Given the description of an element on the screen output the (x, y) to click on. 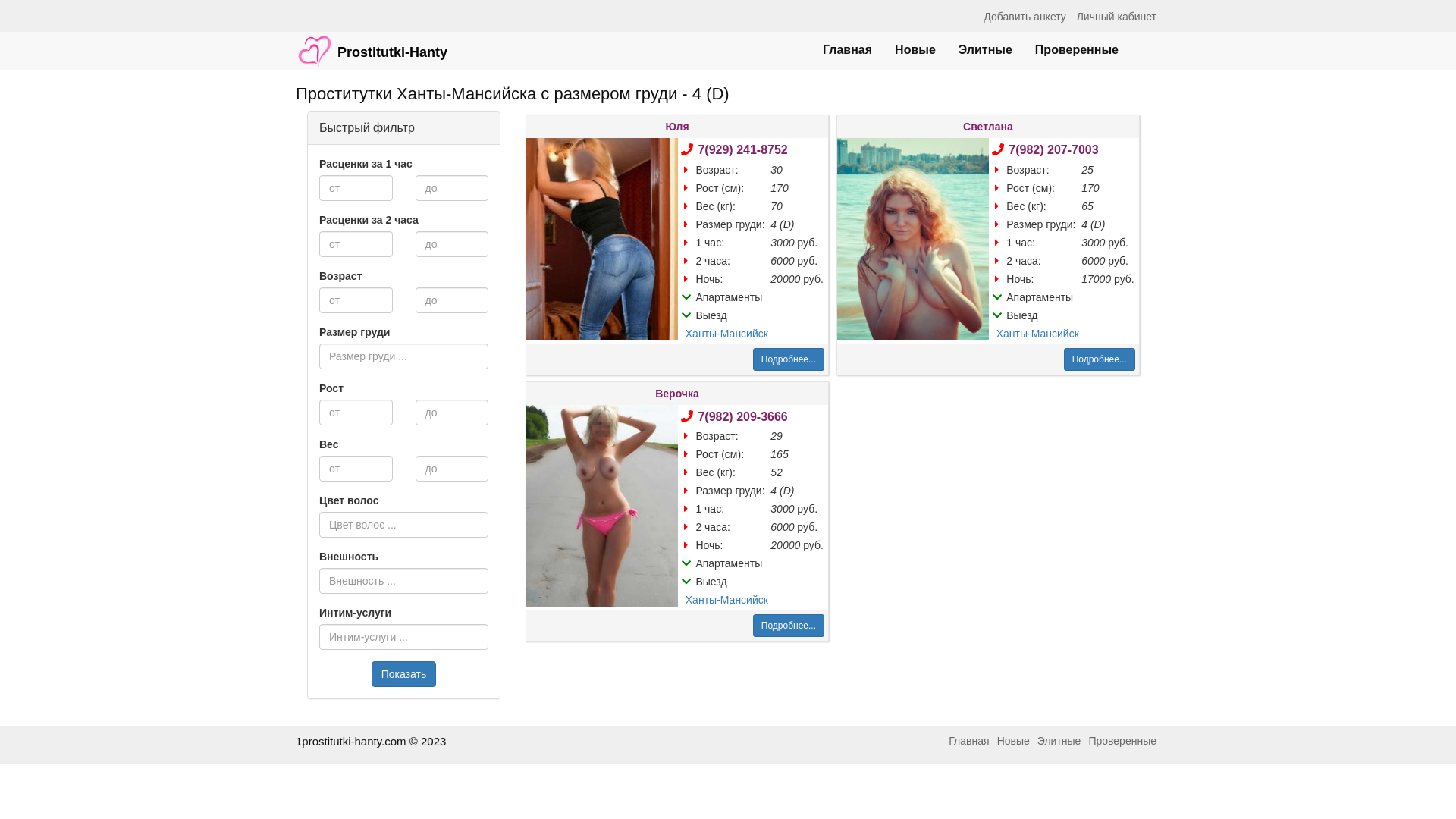
Prostitutki-Hanty Element type: text (371, 43)
